Given the description of an element on the screen output the (x, y) to click on. 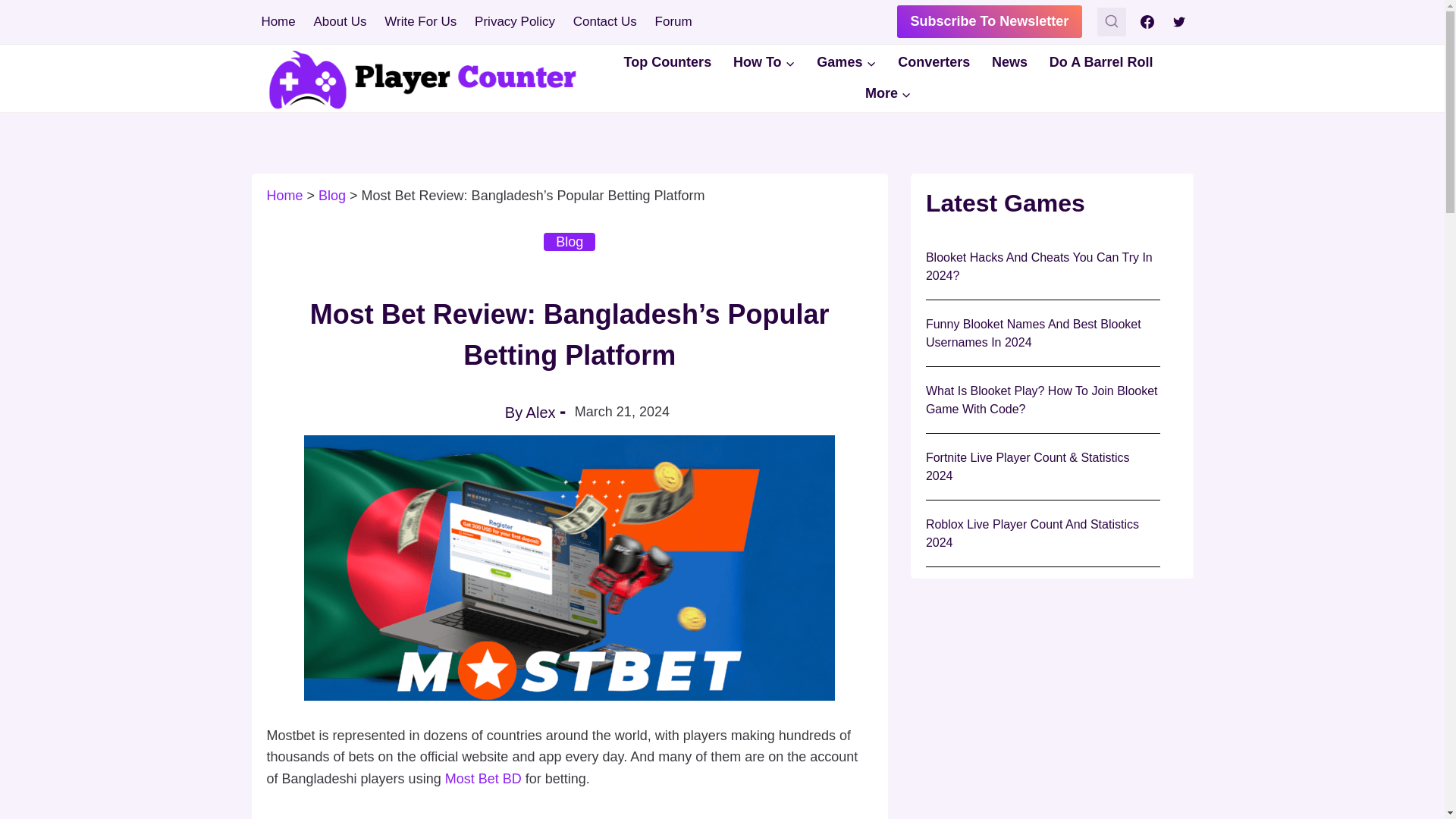
Forum (673, 22)
Games (846, 61)
How To (764, 61)
Subscribe To Newsletter (989, 20)
Write For Us (420, 22)
More (888, 92)
News (1010, 61)
Go to the Blog Category archives. (332, 195)
Home (284, 195)
Blog (332, 195)
